Given the description of an element on the screen output the (x, y) to click on. 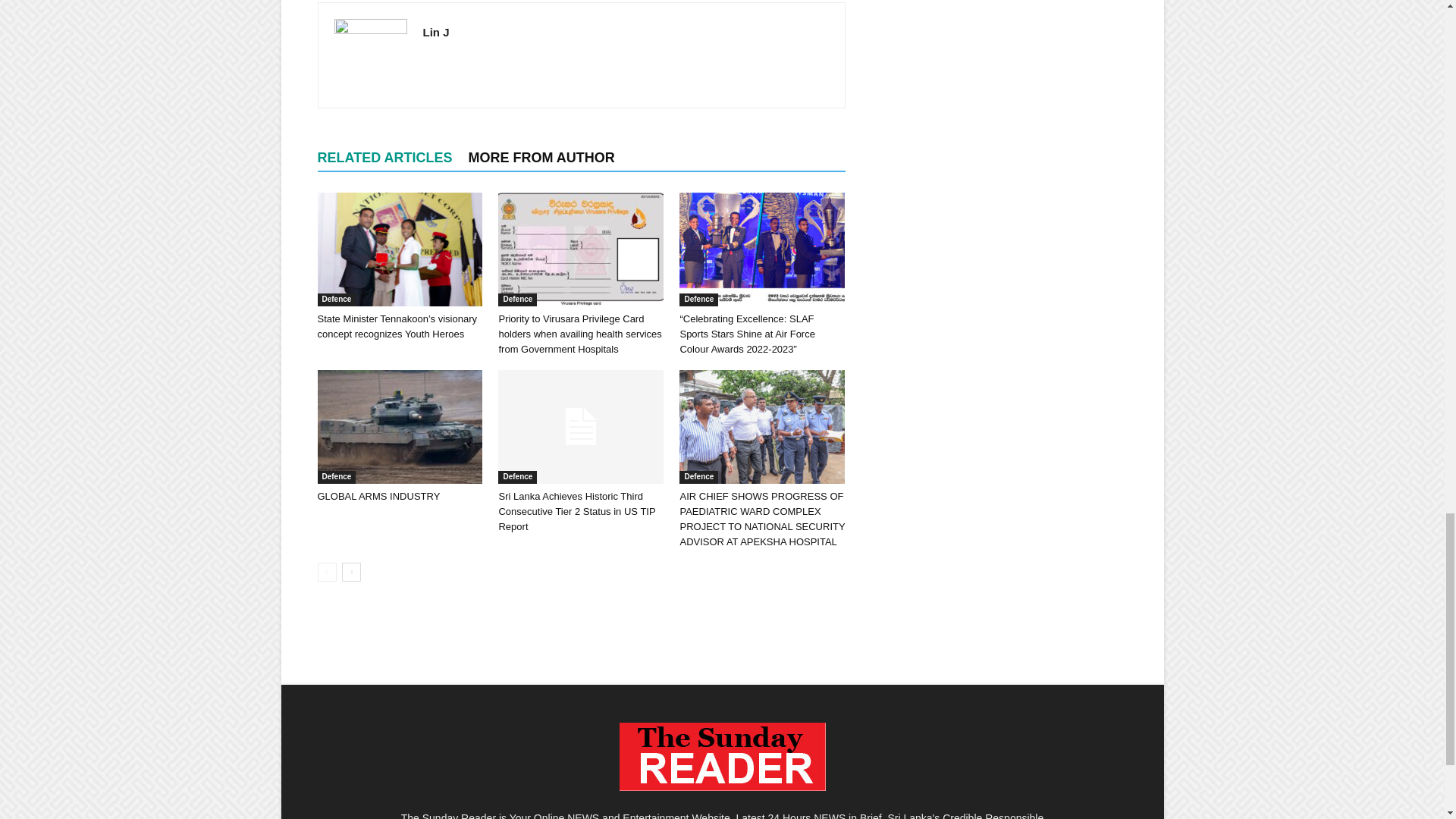
GLOBAL ARMS INDUSTRY (399, 427)
